Given the description of an element on the screen output the (x, y) to click on. 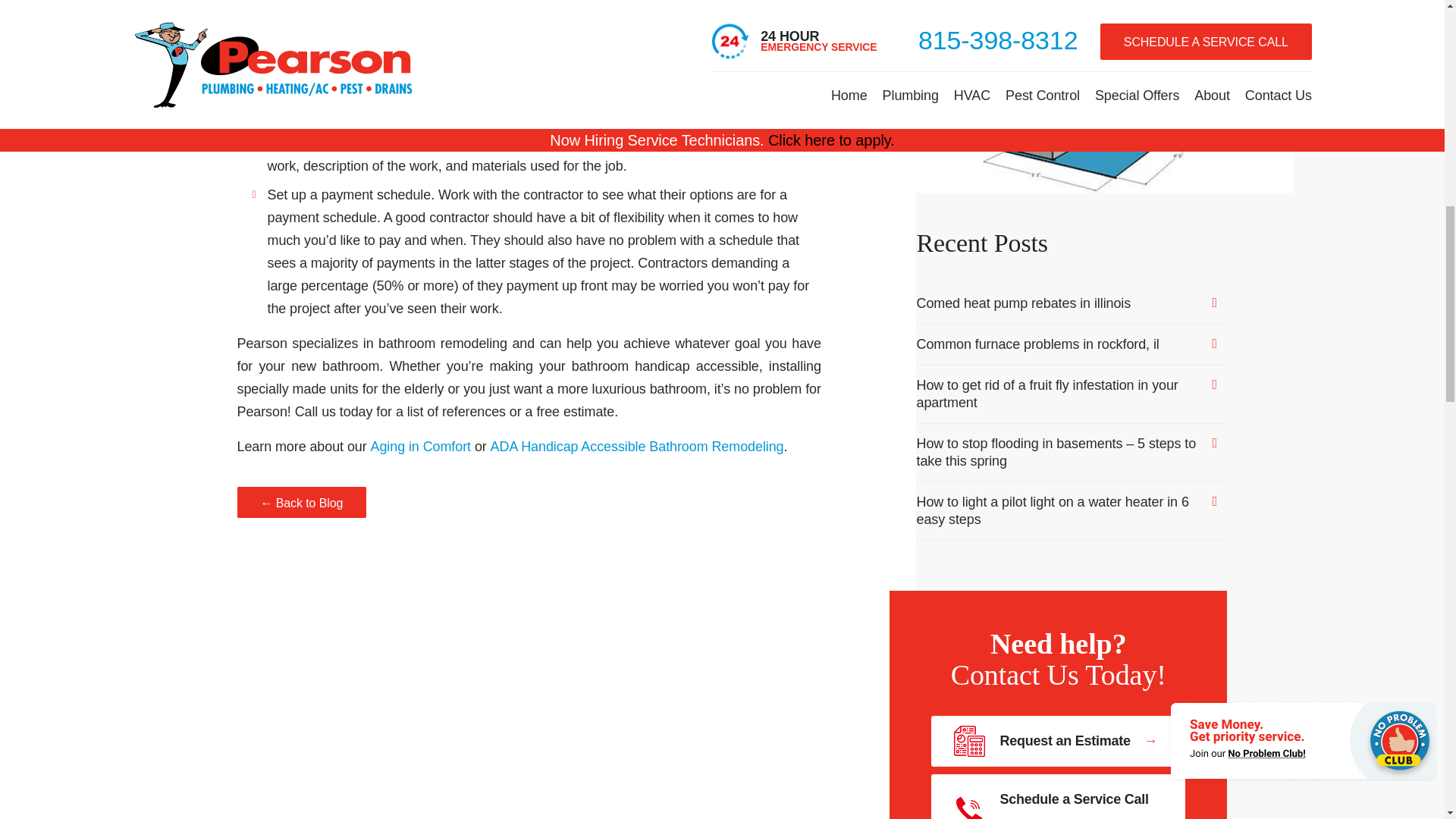
ADA Handicap Accessible Bathroom Remodeling (637, 446)
Aging in Comfort (420, 446)
